Given the description of an element on the screen output the (x, y) to click on. 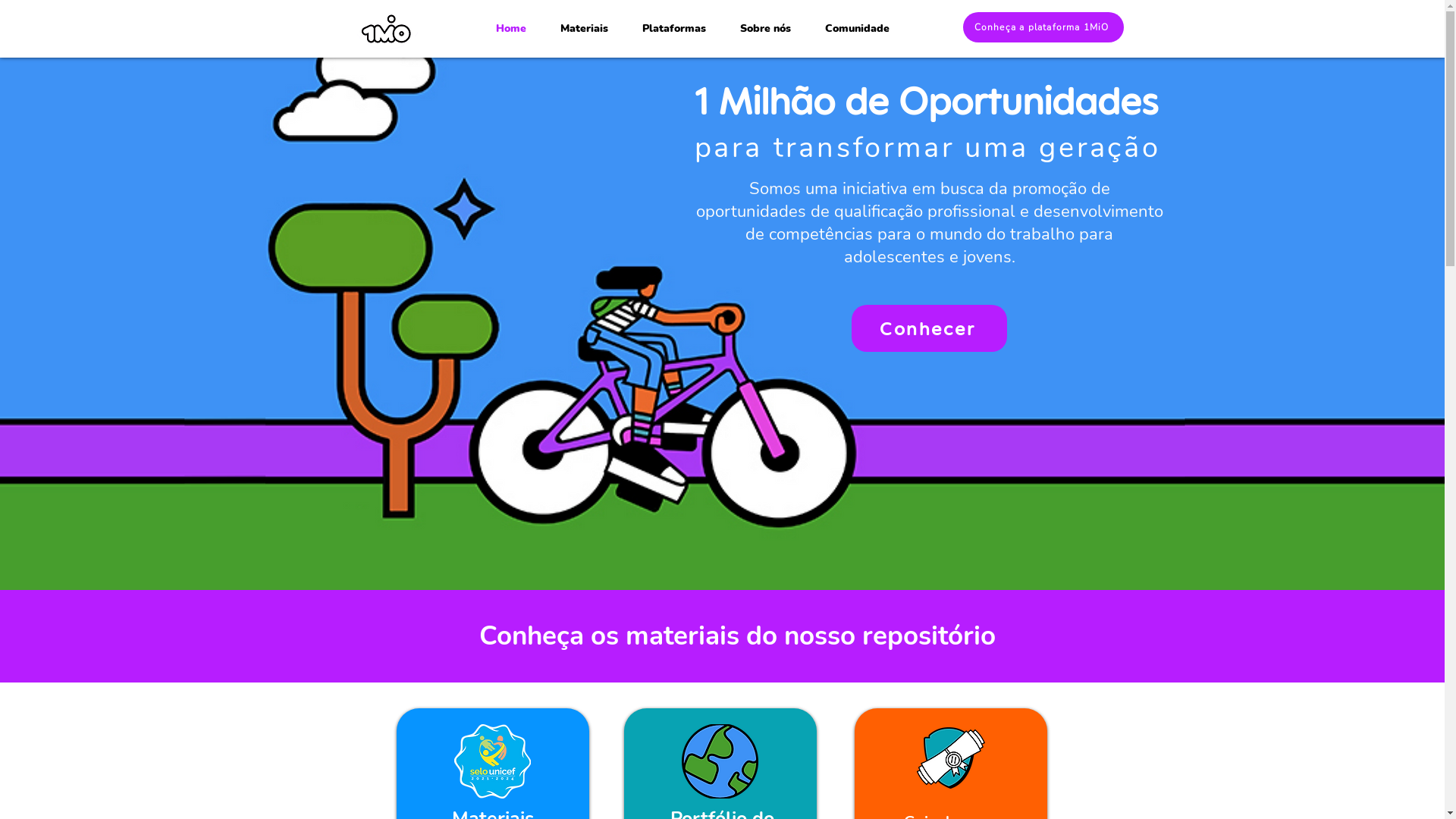
logo_selo_unicef.png Element type: hover (718, 761)
1MiO_Icons-34.png Element type: hover (950, 757)
Home Element type: text (509, 28)
Plataformas Element type: text (673, 28)
logo_selo_unicef.png Element type: hover (491, 761)
Materiais Element type: text (583, 28)
Conhecer Element type: text (928, 327)
Comunidade Element type: text (857, 28)
